Given the description of an element on the screen output the (x, y) to click on. 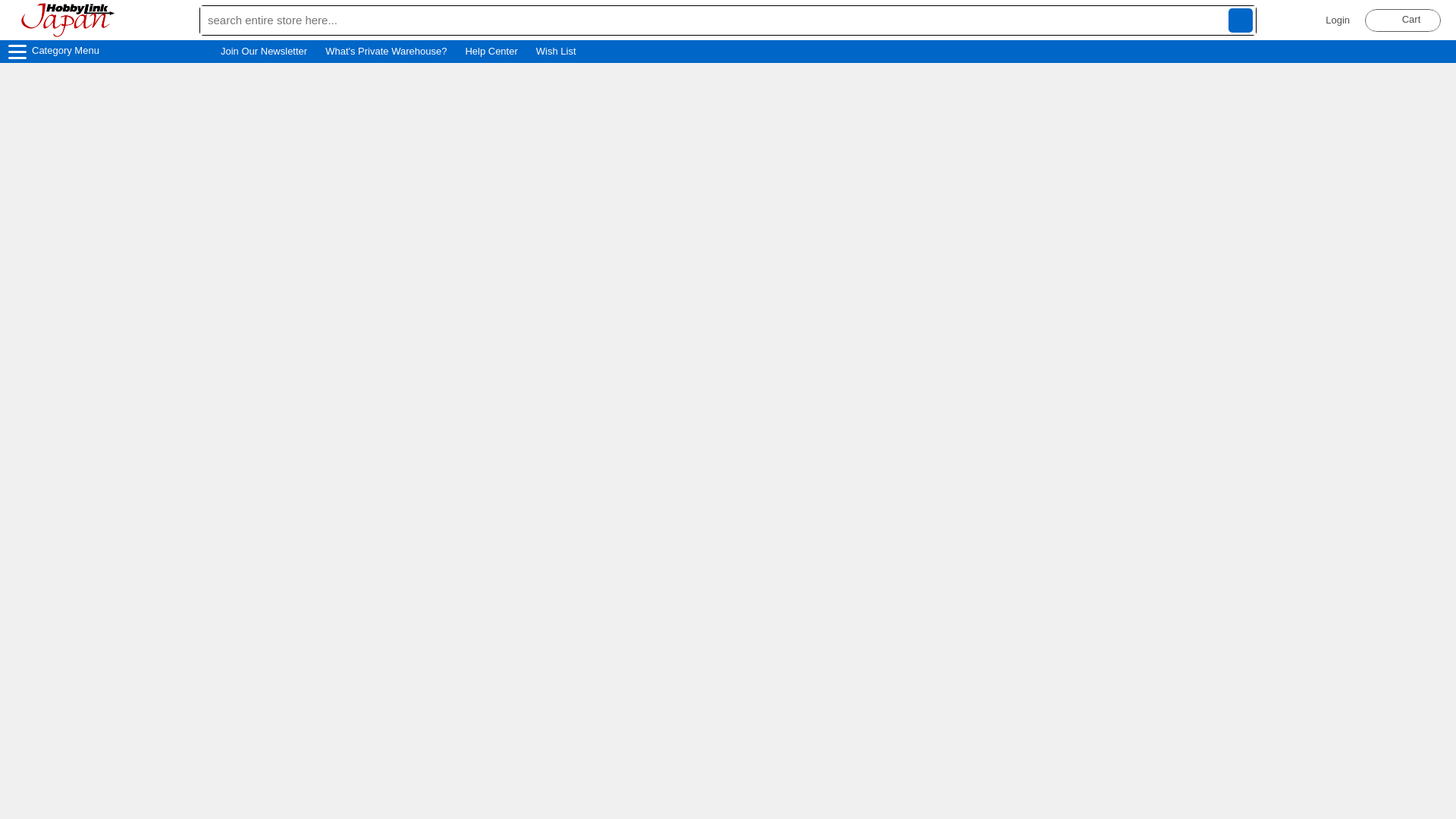
Login (1336, 20)
